Given the description of an element on the screen output the (x, y) to click on. 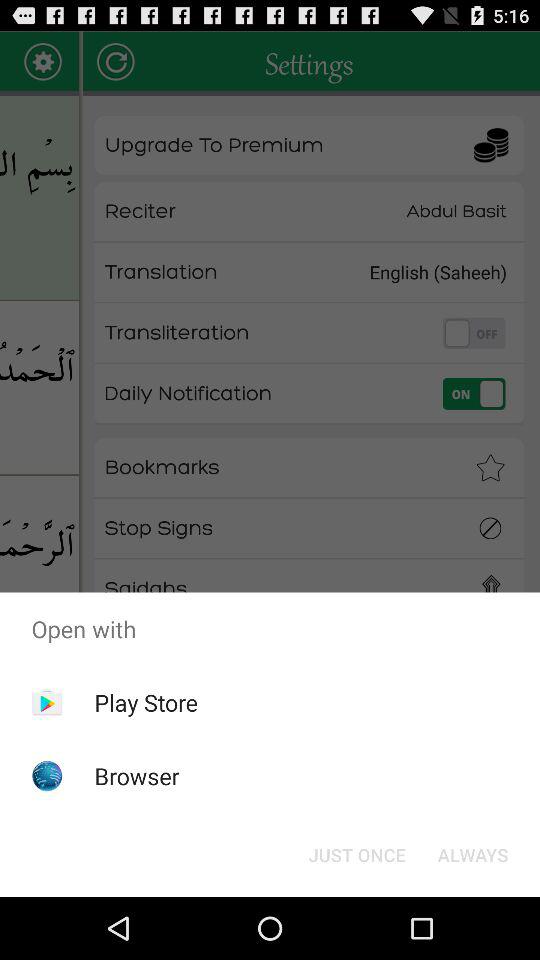
turn on item at the bottom (356, 854)
